Given the description of an element on the screen output the (x, y) to click on. 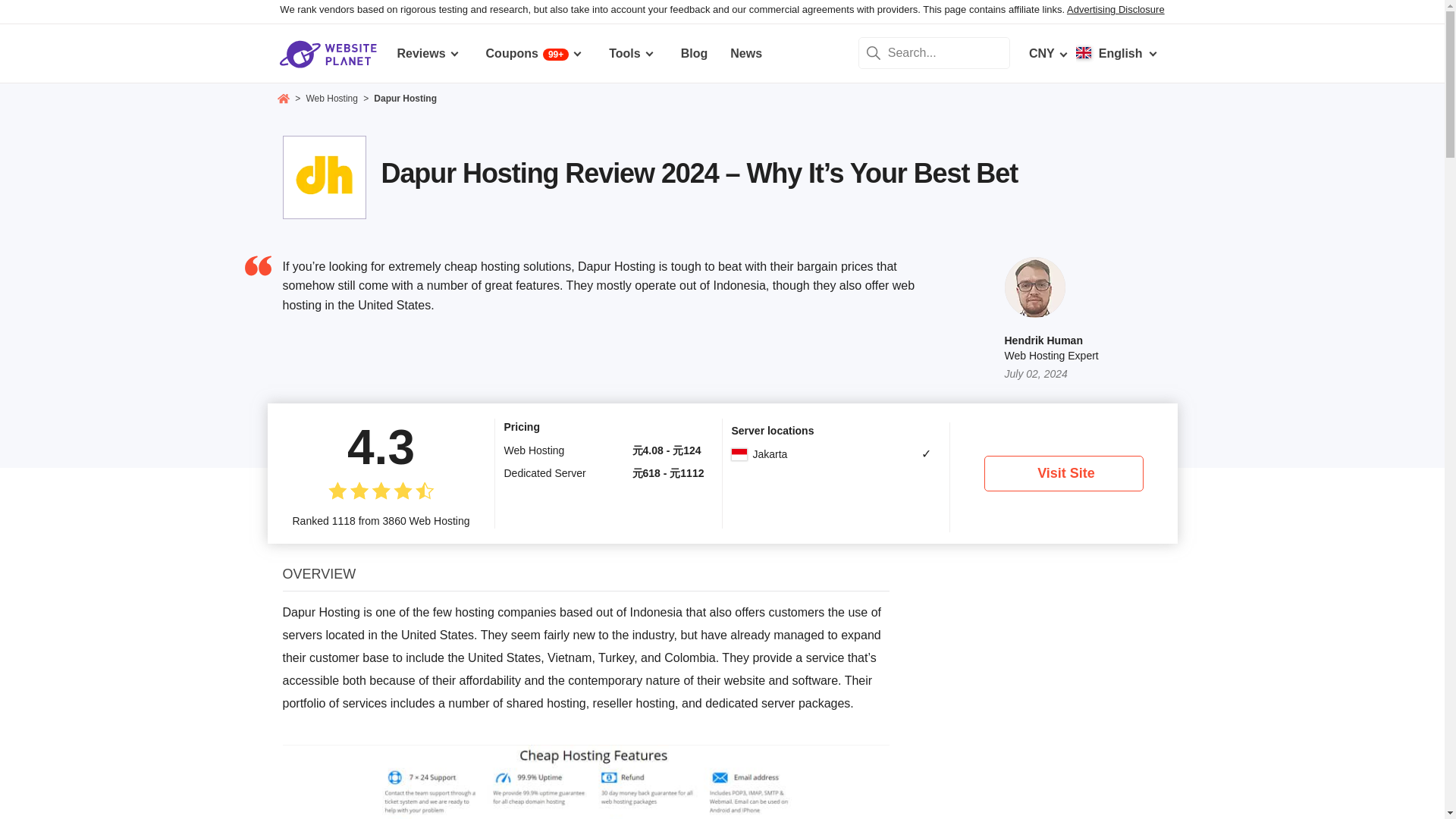
Search (873, 52)
Search (873, 52)
Advertising Disclosure (1115, 9)
